Given the description of an element on the screen output the (x, y) to click on. 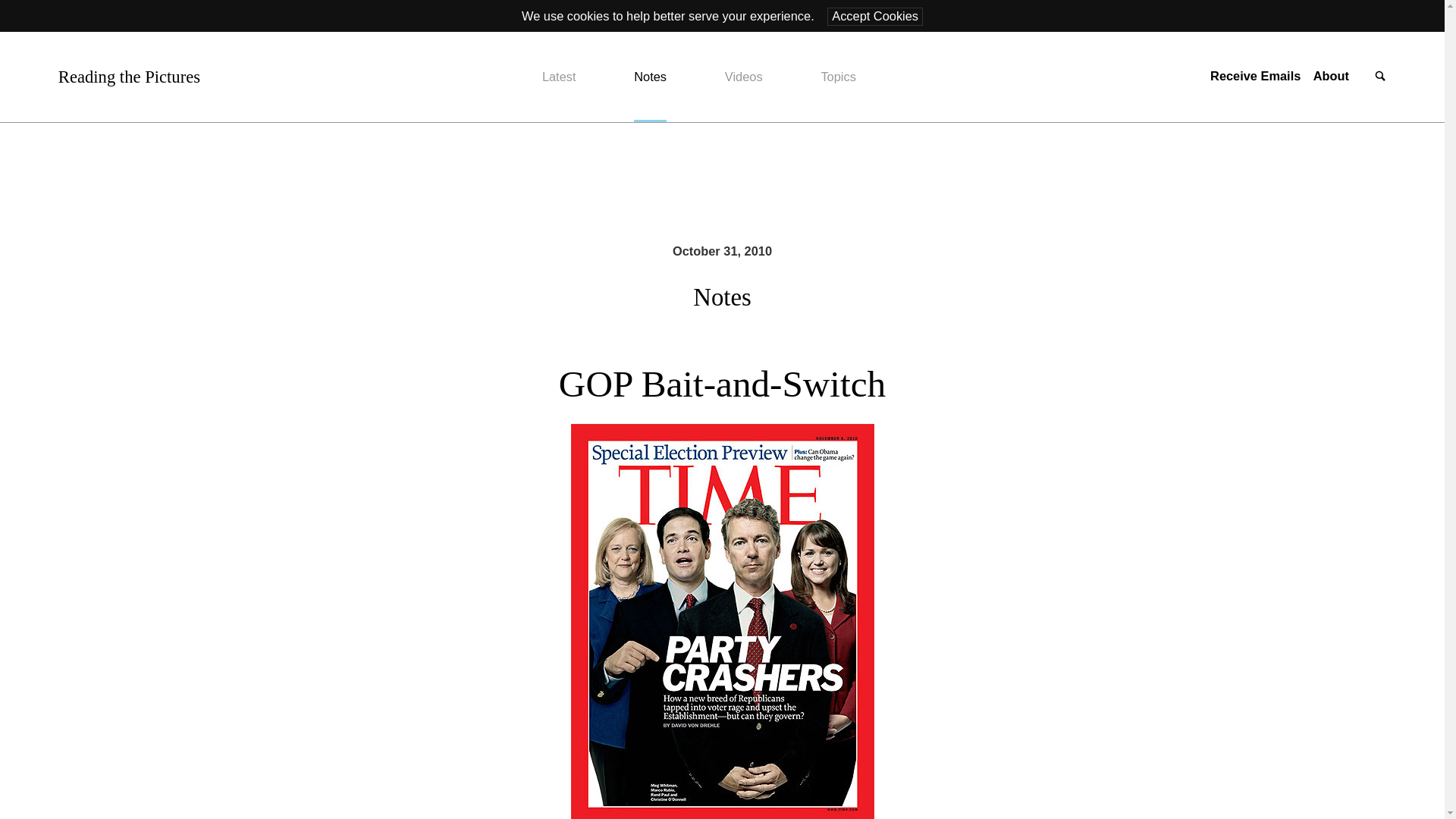
Accept Cookies (875, 16)
Receive Emails (1254, 75)
Reading the Pictures (129, 76)
About (1331, 75)
Newsletter Signup (1254, 75)
search (1380, 78)
Reading the Pictures (129, 76)
About (1331, 75)
